Given the description of an element on the screen output the (x, y) to click on. 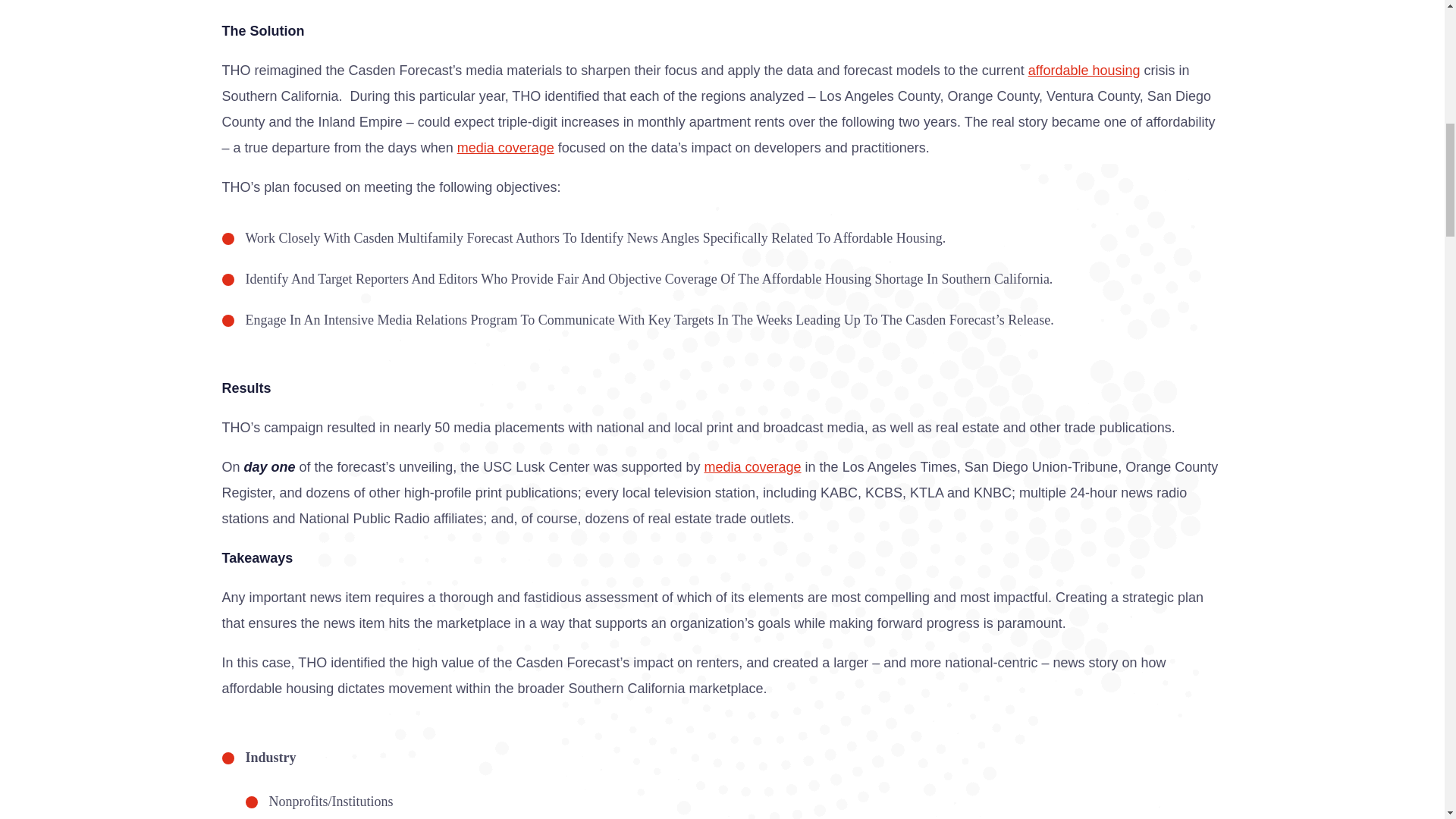
media coverage (753, 467)
media coverage (505, 147)
affordable housing (1083, 70)
